Given the description of an element on the screen output the (x, y) to click on. 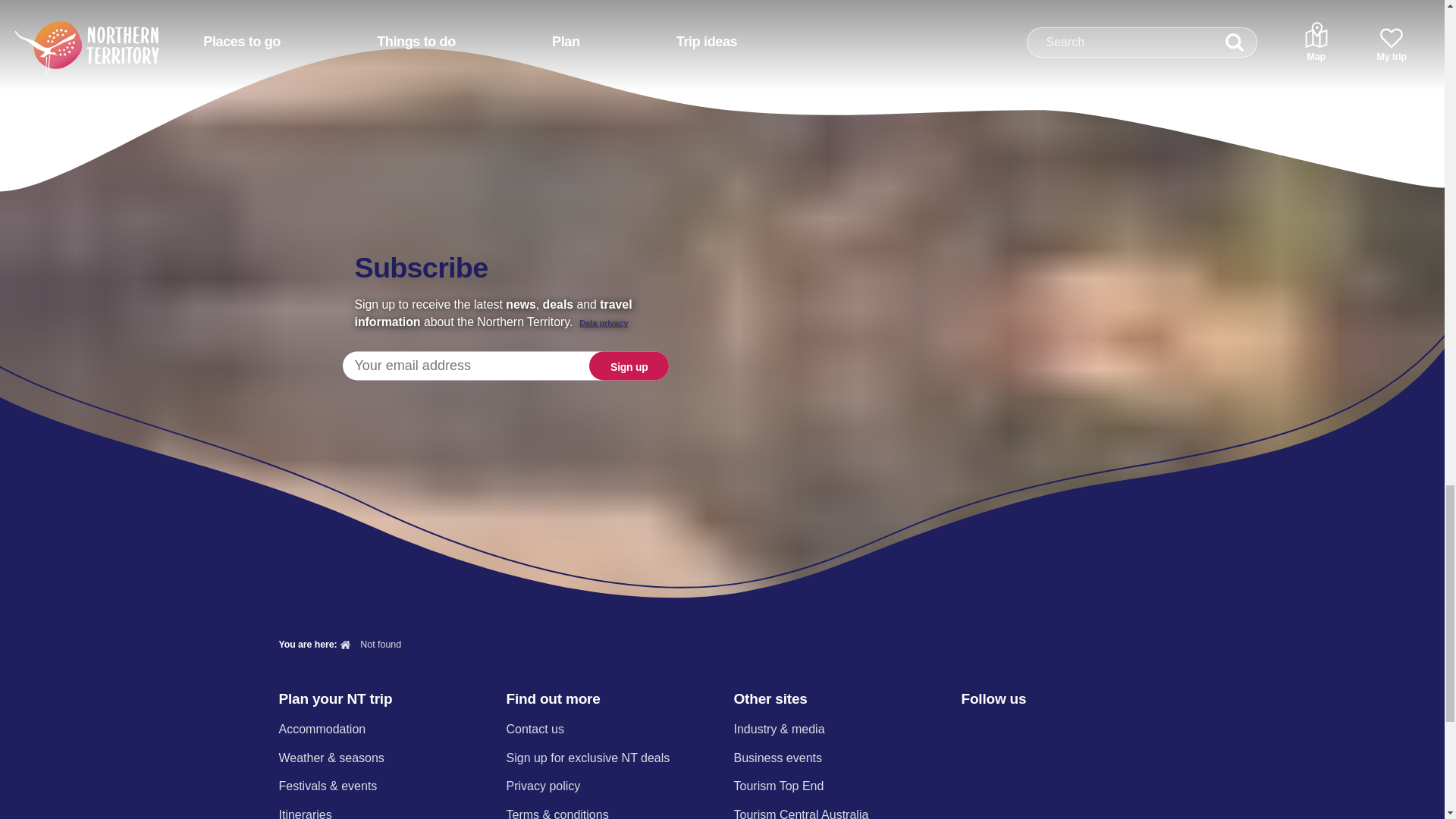
YouTube (1089, 730)
Trip Advisor (1129, 730)
Instagram (1009, 730)
Facebook (970, 730)
Twitter (1050, 730)
